Given the description of an element on the screen output the (x, y) to click on. 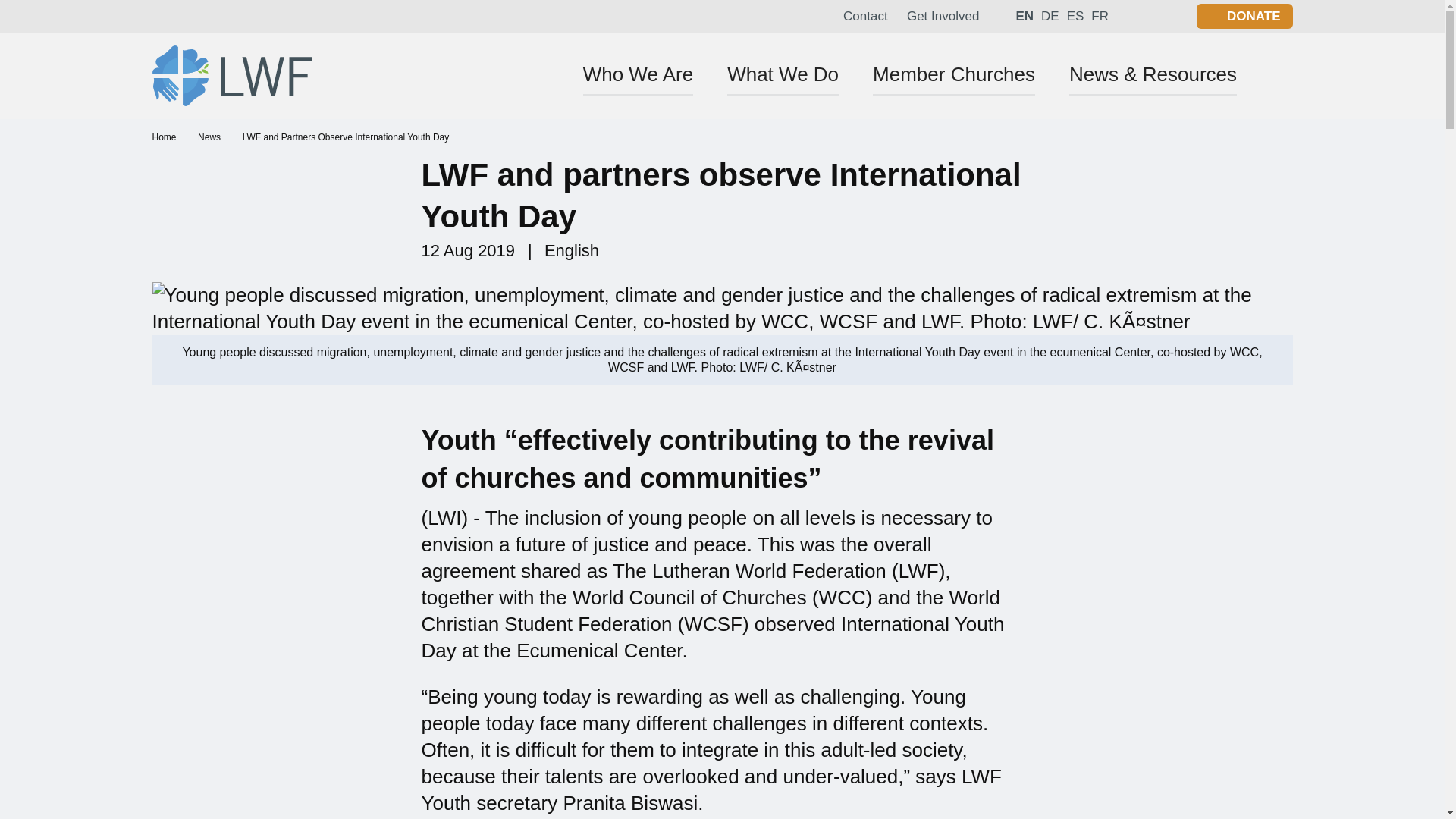
Who We Are (637, 79)
Contact (865, 16)
DONATE (1244, 16)
Get Involved (942, 16)
DE (1050, 15)
